Given the description of an element on the screen output the (x, y) to click on. 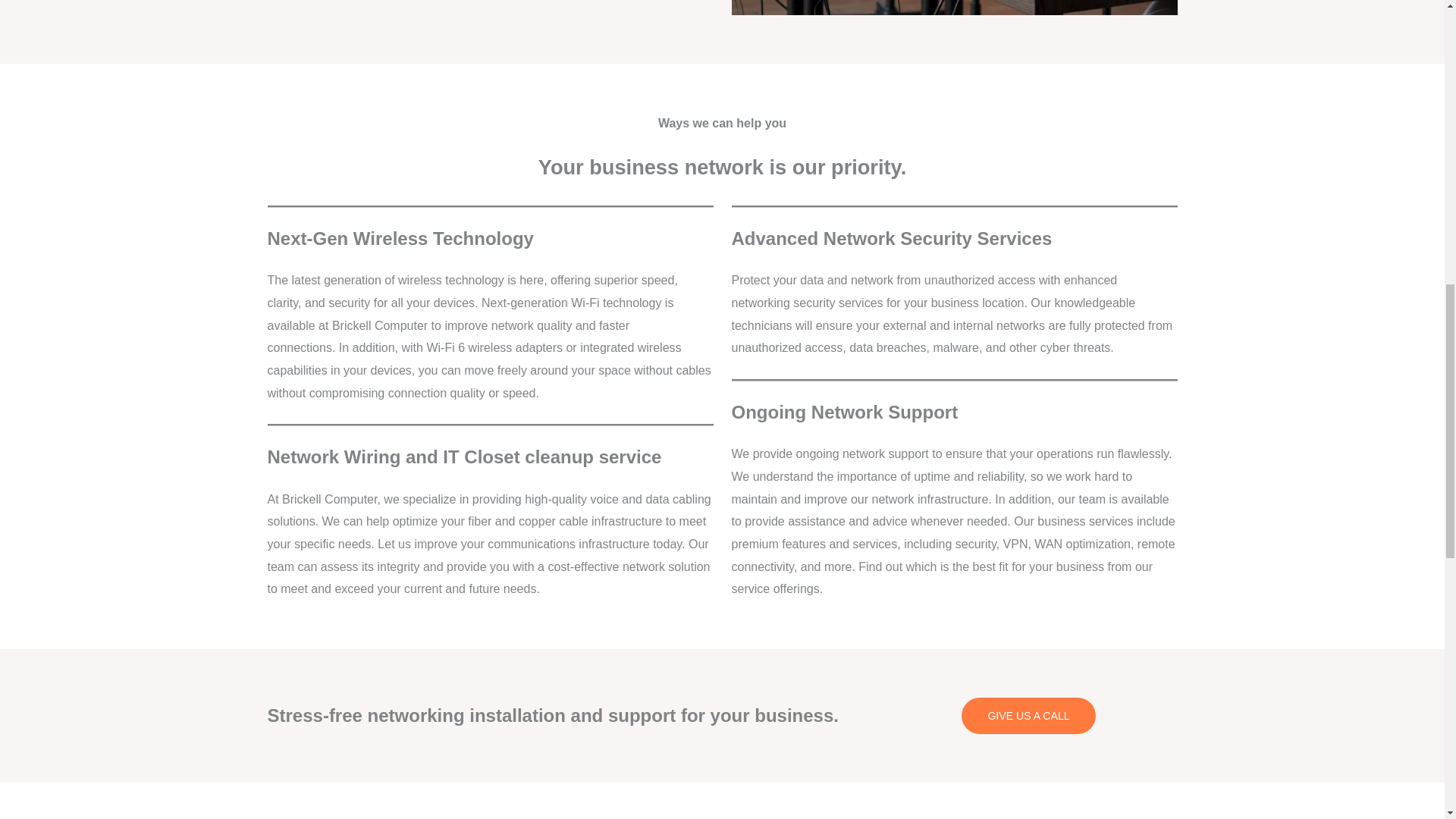
GIVE US A CALL (1027, 715)
